Given the description of an element on the screen output the (x, y) to click on. 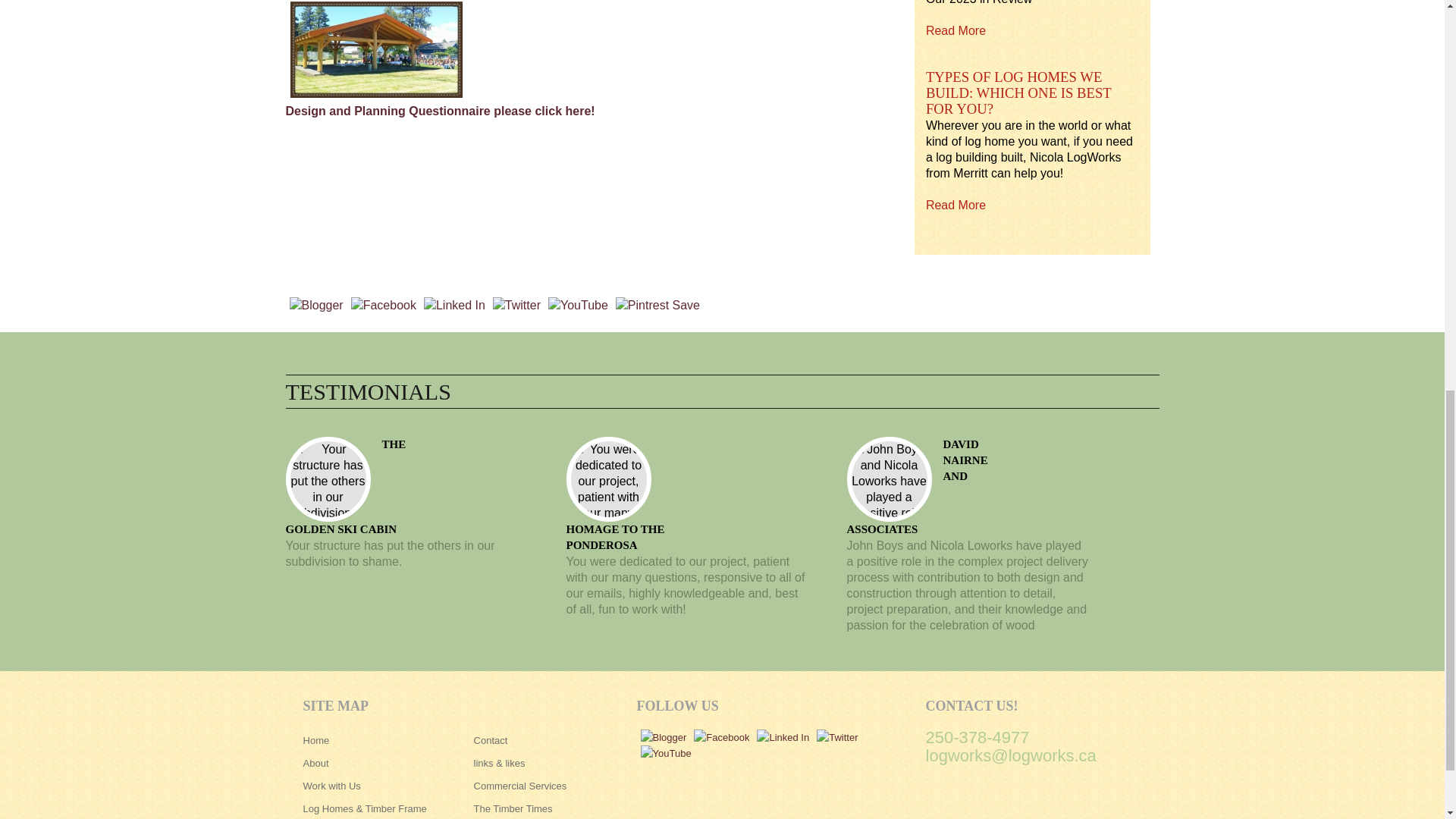
Read More (955, 205)
Read More (955, 30)
Design and Planning Questionnaire please click here! (439, 110)
TYPES OF LOG HOMES WE BUILD: WHICH ONE IS BEST FOR YOU? (1019, 92)
Contact Us (439, 110)
THE GOLDEN SKI CABIN (345, 486)
